Given the description of an element on the screen output the (x, y) to click on. 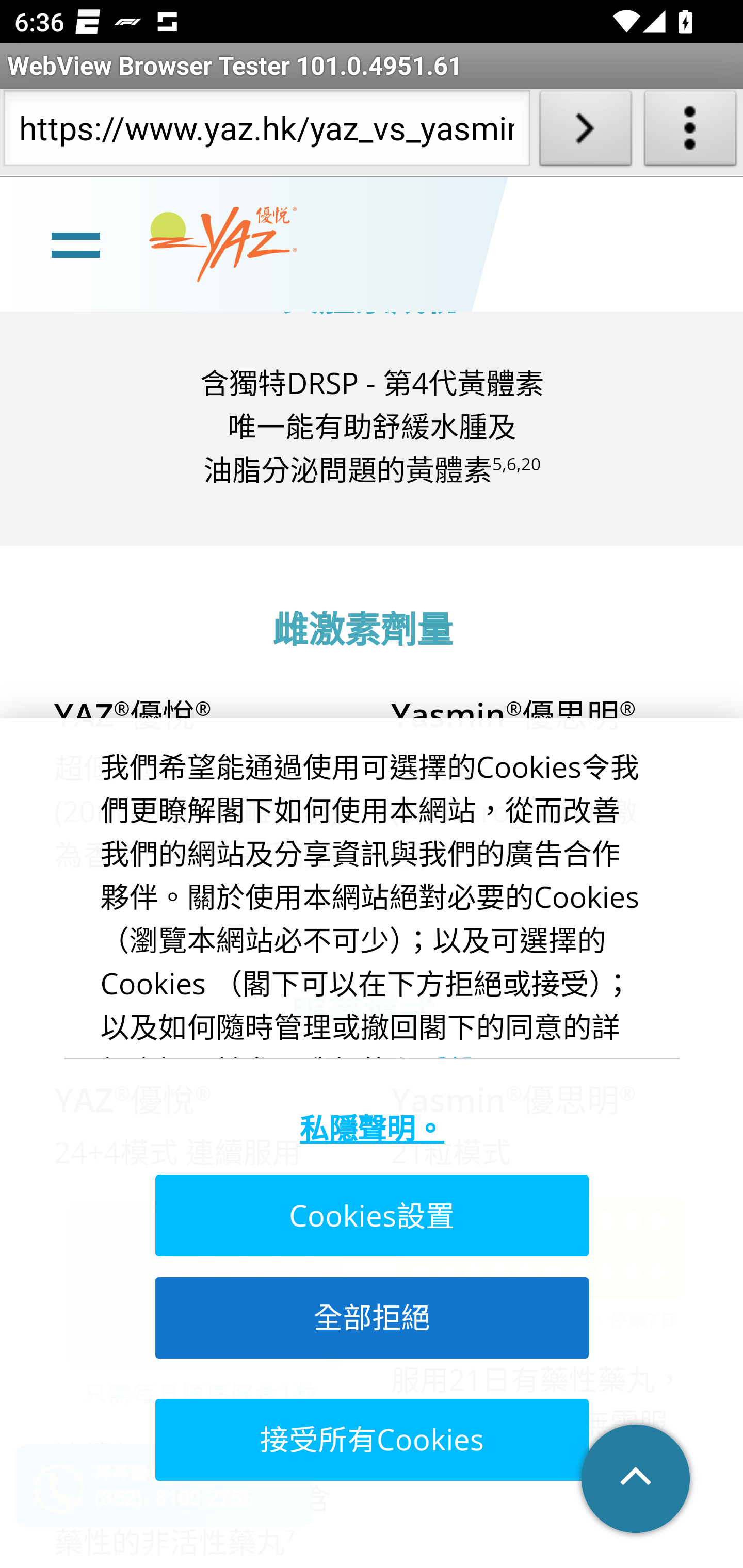
Load URL (585, 132)
About WebView (690, 132)
www.yaz (222, 244)
line Toggle burger menu (75, 243)
Cookies設置 (370, 1217)
全部拒絕 (370, 1317)
接受所有Cookies (370, 1439)
 (636, 1480)
